Given the description of an element on the screen output the (x, y) to click on. 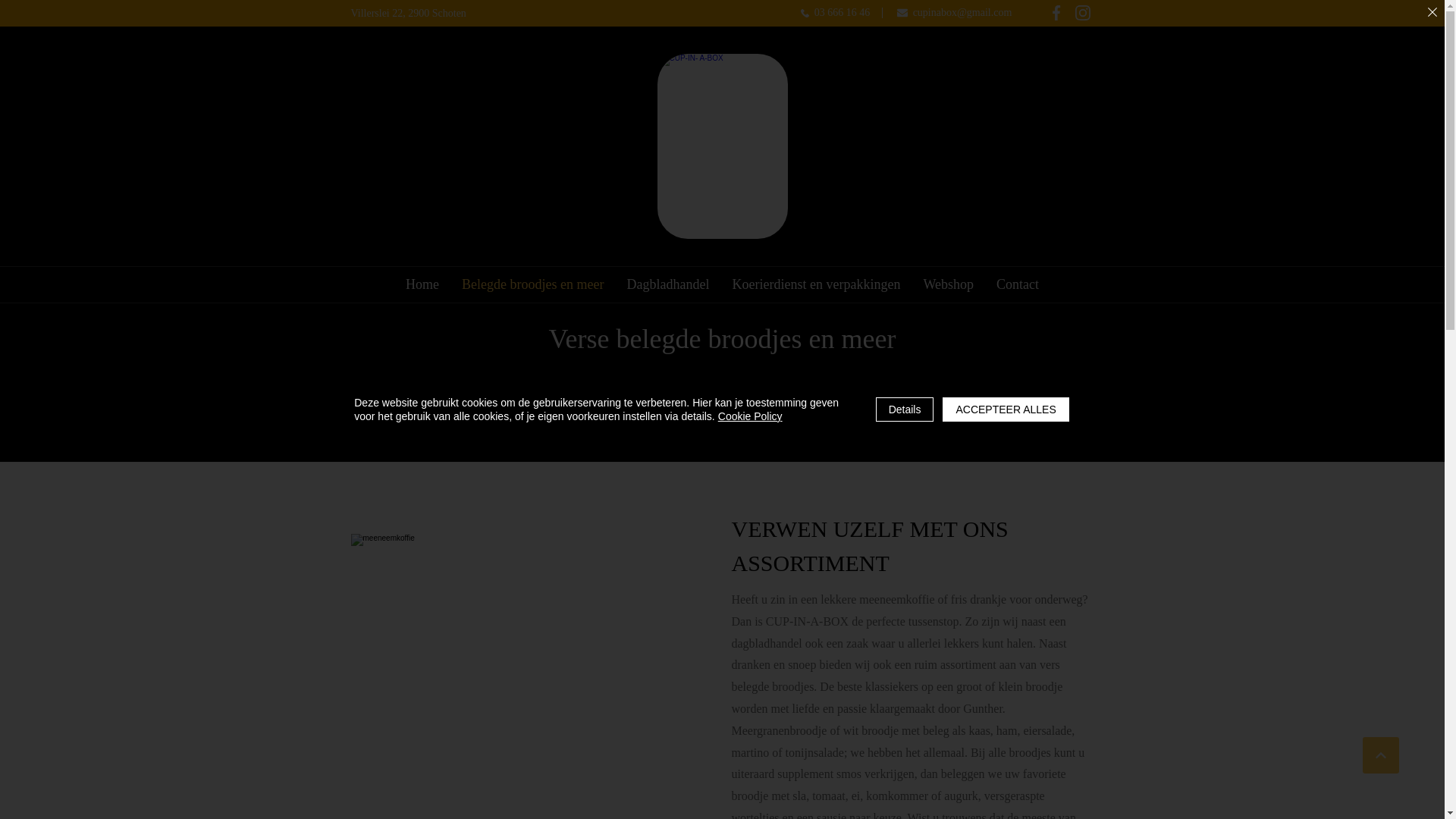
Home Element type: text (422, 284)
Webshop Element type: text (948, 284)
Details Element type: text (904, 409)
03 666 16 46 Element type: text (834, 12)
Cookie Policy Element type: text (750, 416)
Contact Element type: text (1017, 284)
Dagbladhandel Element type: text (668, 284)
ACCEPTEER ALLES Element type: text (1005, 409)
Belegde broodjes en meer Element type: text (532, 284)
Koerierdienst en verpakkingen Element type: text (815, 284)
cupinabox@gmail.com Element type: text (954, 12)
